Given the description of an element on the screen output the (x, y) to click on. 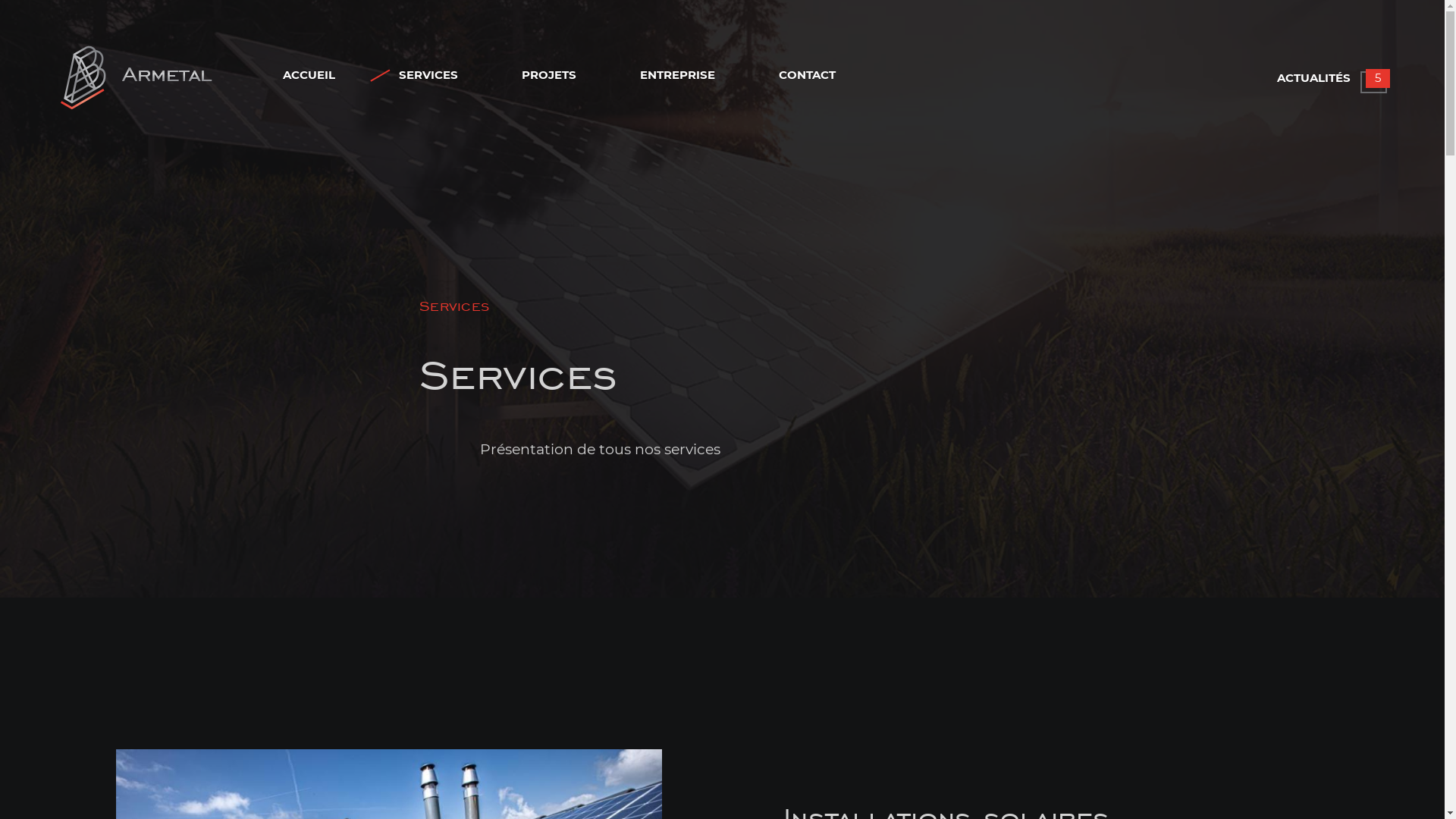
Aller au contenu principal Element type: text (722, 1)
ACCUEIL Element type: text (308, 75)
PROJETS Element type: text (548, 75)
SERVICES Element type: text (428, 75)
CONTACT Element type: text (806, 75)
Armetal Element type: text (165, 73)
ENTREPRISE Element type: text (677, 75)
5 Element type: text (1377, 78)
